Given the description of an element on the screen output the (x, y) to click on. 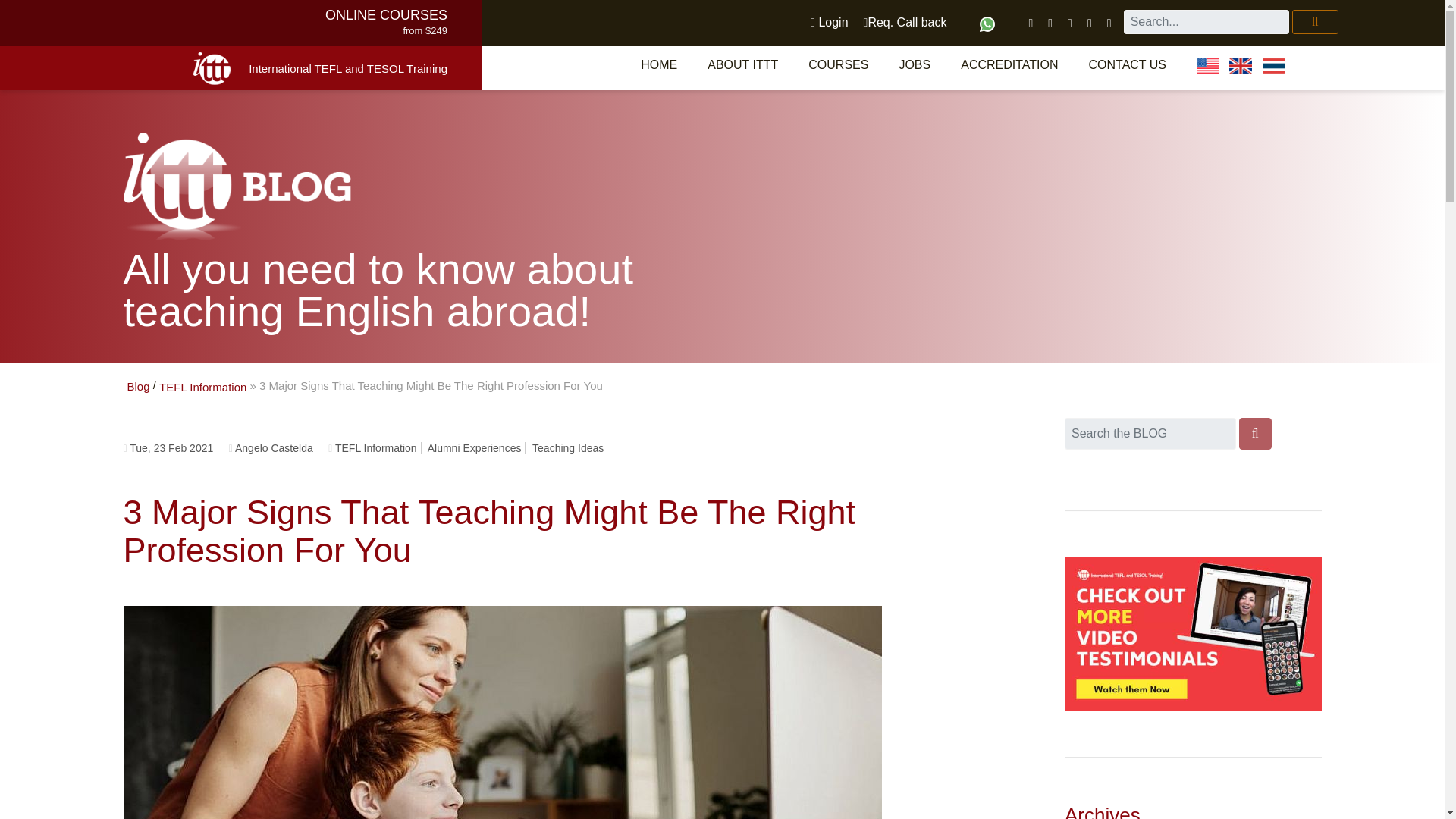
ONLINE COURSES (385, 14)
UK Office (1240, 65)
Req. Call back (905, 22)
ACCREDITATION (1008, 64)
Thailand Office (1273, 65)
International TEFL and TESOL Training (347, 68)
HOME (659, 64)
ABOUT ITTT (743, 64)
Request a call back (905, 22)
